Given the description of an element on the screen output the (x, y) to click on. 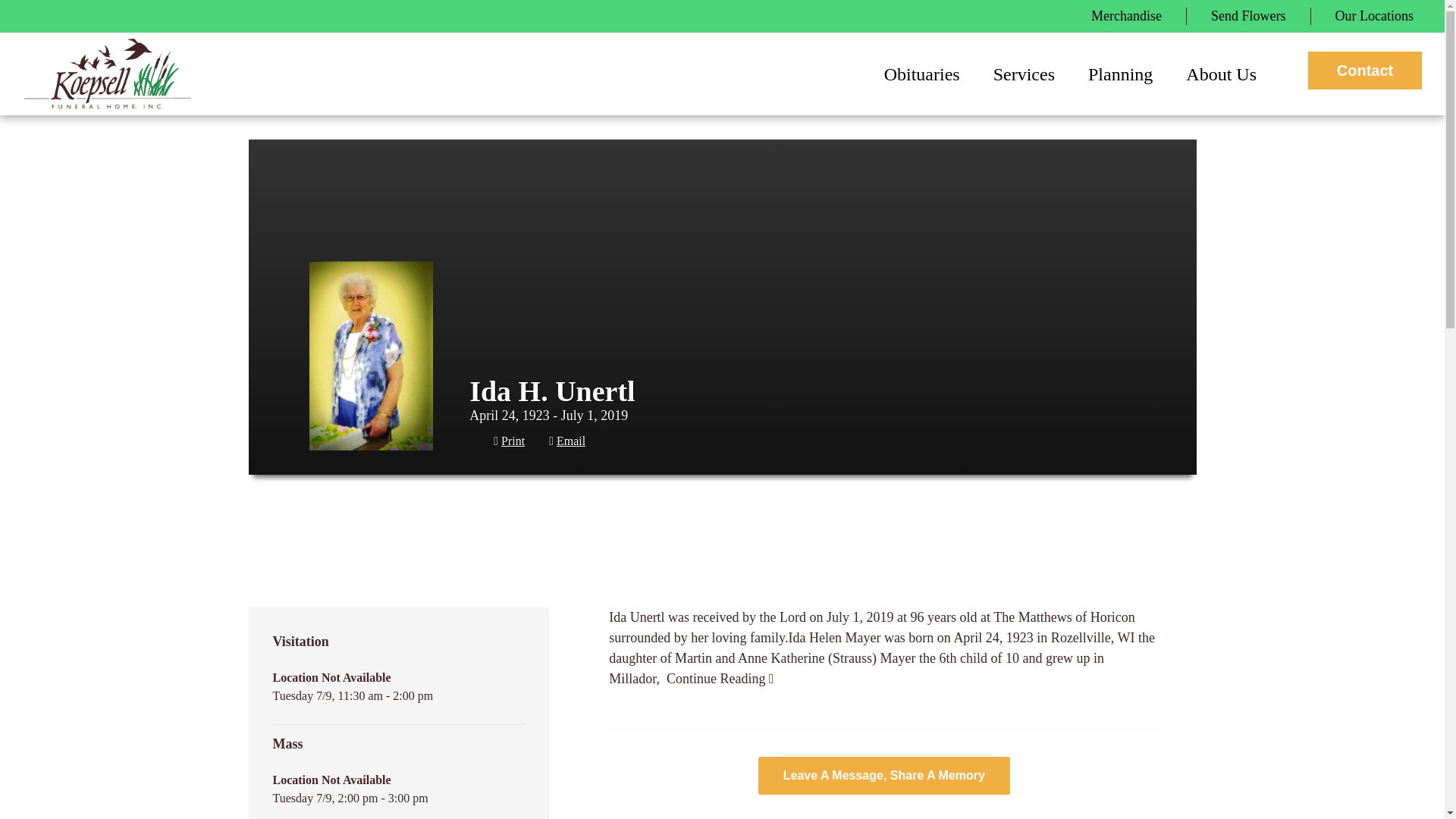
Merchandise (1126, 16)
Our Locations (1374, 16)
Send Flowers (1248, 16)
Services (1016, 74)
Obituaries (914, 74)
